Given the description of an element on the screen output the (x, y) to click on. 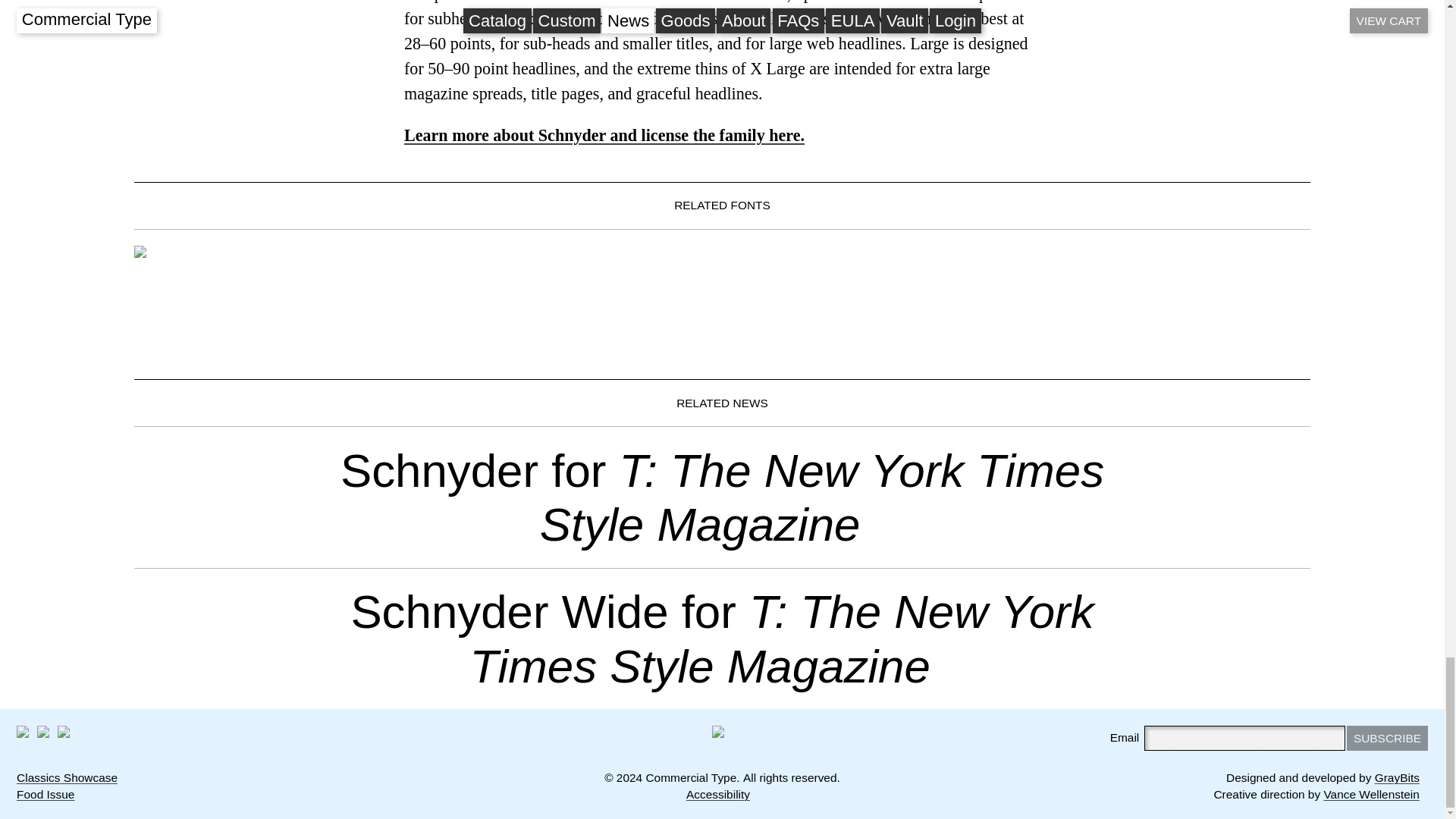
Email (63, 731)
Instagram (43, 731)
Mastodon (22, 731)
